Given the description of an element on the screen output the (x, y) to click on. 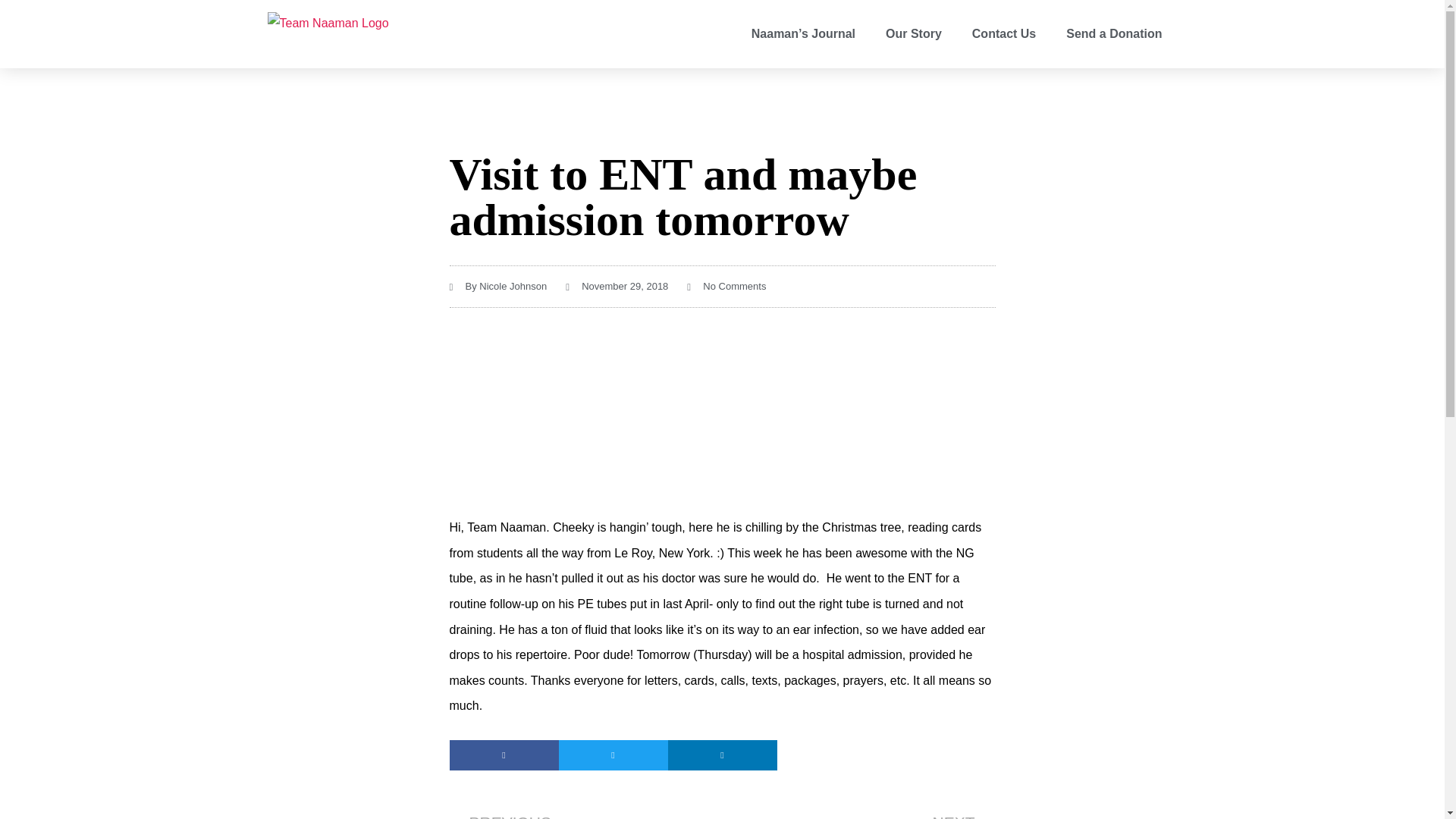
Our Story (913, 33)
Contact Us (1003, 33)
No Comments (858, 813)
Send a Donation (726, 286)
November 29, 2018 (1113, 33)
By Nicole Johnson (617, 286)
